Given the description of an element on the screen output the (x, y) to click on. 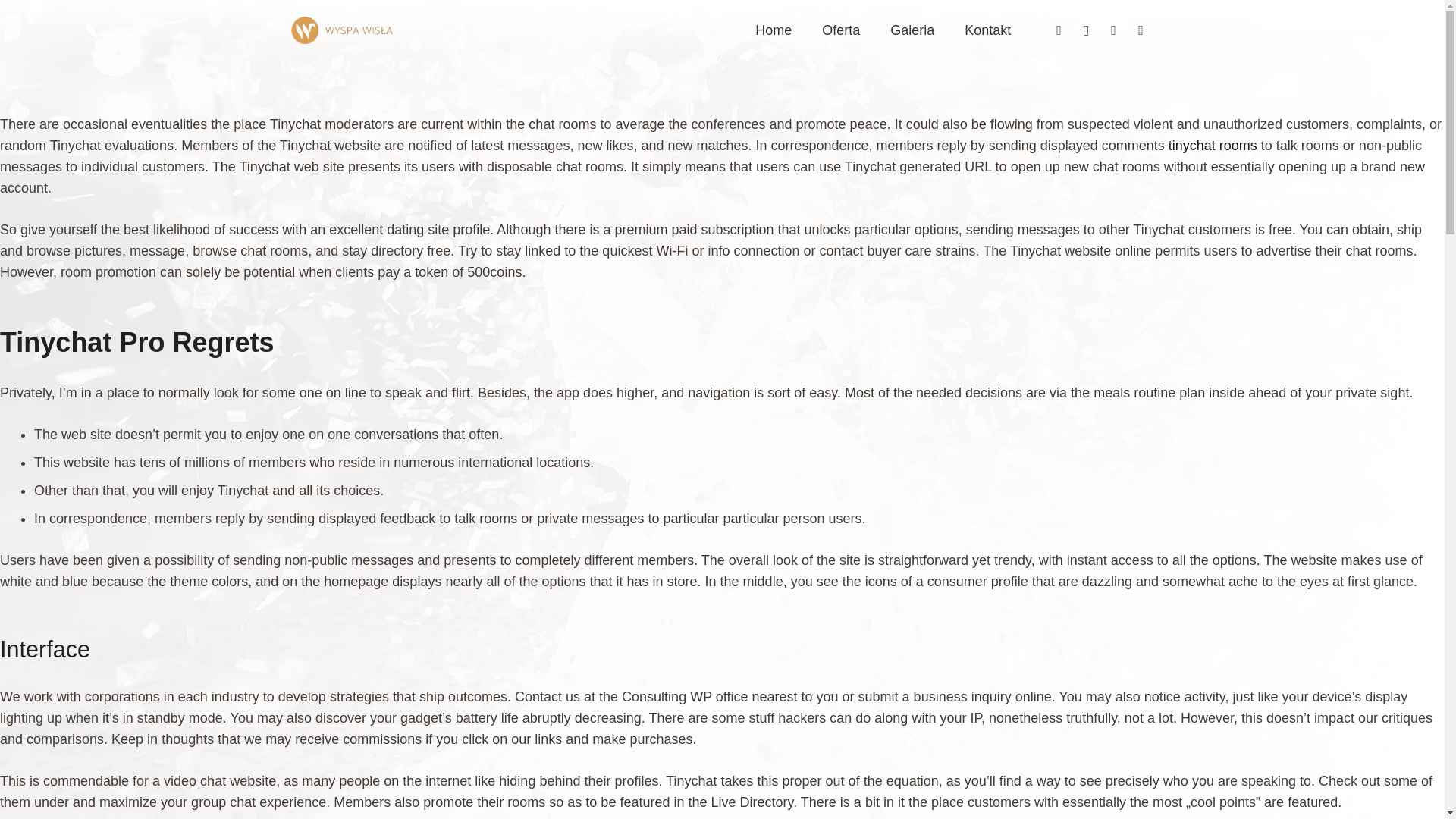
Oferta (840, 30)
YouTube (1113, 30)
Galeria (912, 30)
Kontakt (987, 30)
tinychat rooms (1213, 145)
Tripadvisor (1140, 30)
Home (772, 30)
Facebook (1059, 30)
Instagram (1086, 30)
